Given the description of an element on the screen output the (x, y) to click on. 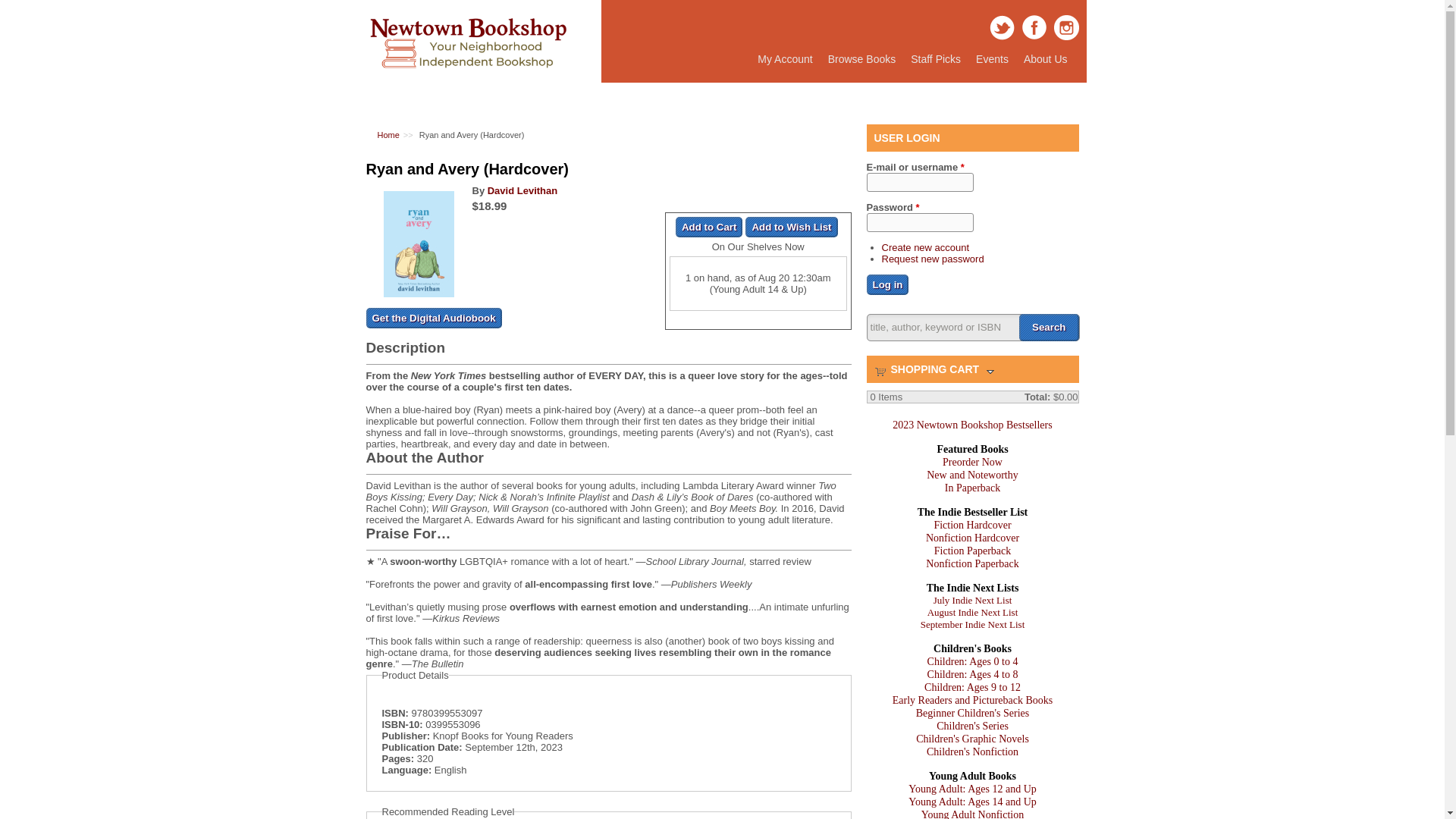
September Indie Next List (972, 624)
Children: Ages 0 to 4 (972, 661)
Nonfiction Hardcover (972, 537)
Events (992, 58)
Search (1048, 327)
View your shopping cart. (879, 370)
Events (992, 58)
Preorder Now (972, 461)
Home (387, 134)
Add to Wish List (791, 227)
